Given the description of an element on the screen output the (x, y) to click on. 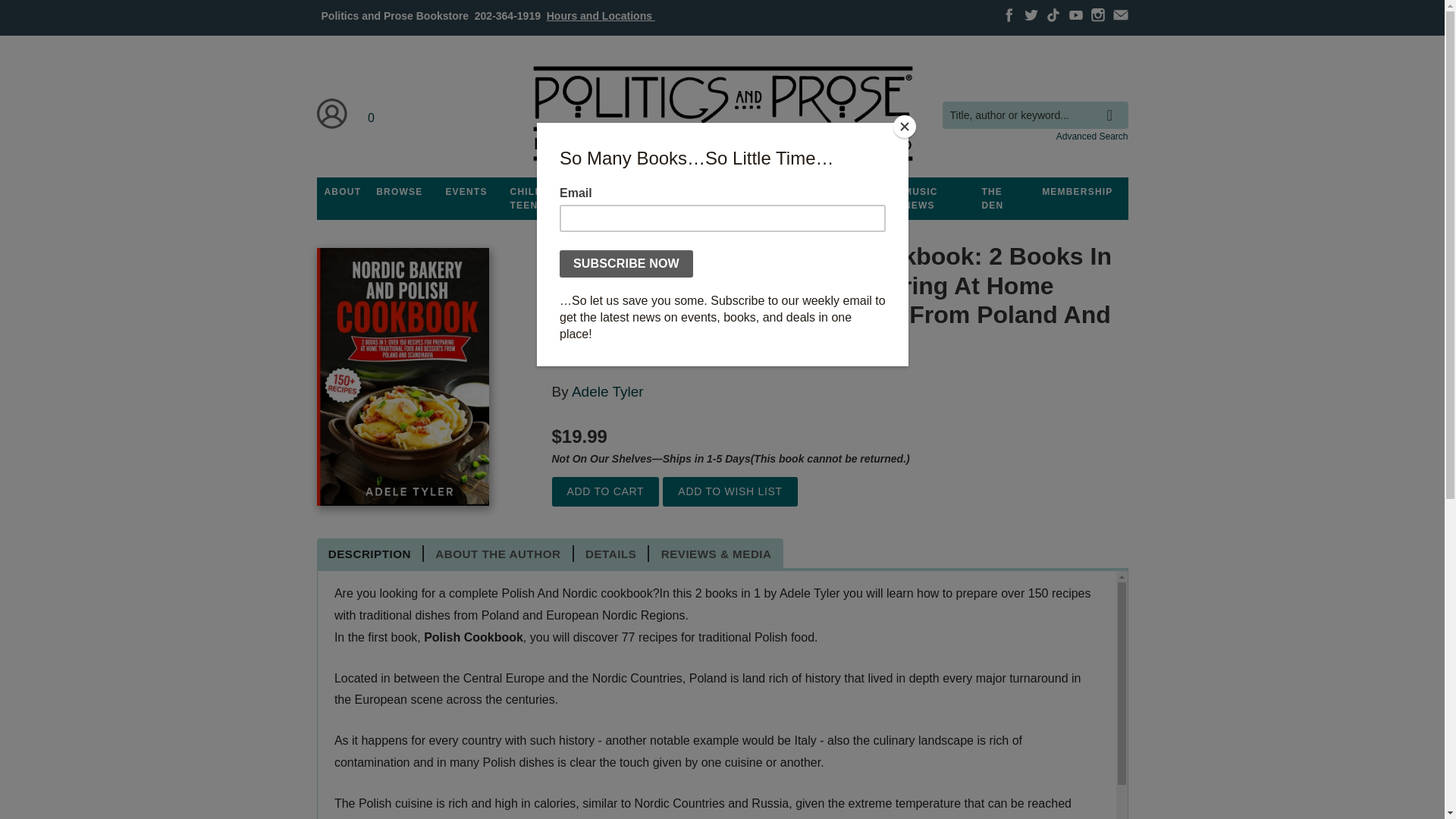
BROWSE (398, 191)
Browse our shelves (398, 191)
See our store ours and locations (601, 15)
See information about our programs (633, 191)
PROGRAMS (633, 191)
SUBSCRIPTIONS (722, 191)
Add to Cart (605, 491)
Home (721, 114)
ABOUT (343, 191)
Add to Wish List (729, 491)
Title, author or keyword... (1034, 115)
search (1112, 103)
EVENTS (465, 191)
Advanced Search (1092, 136)
